Given the description of an element on the screen output the (x, y) to click on. 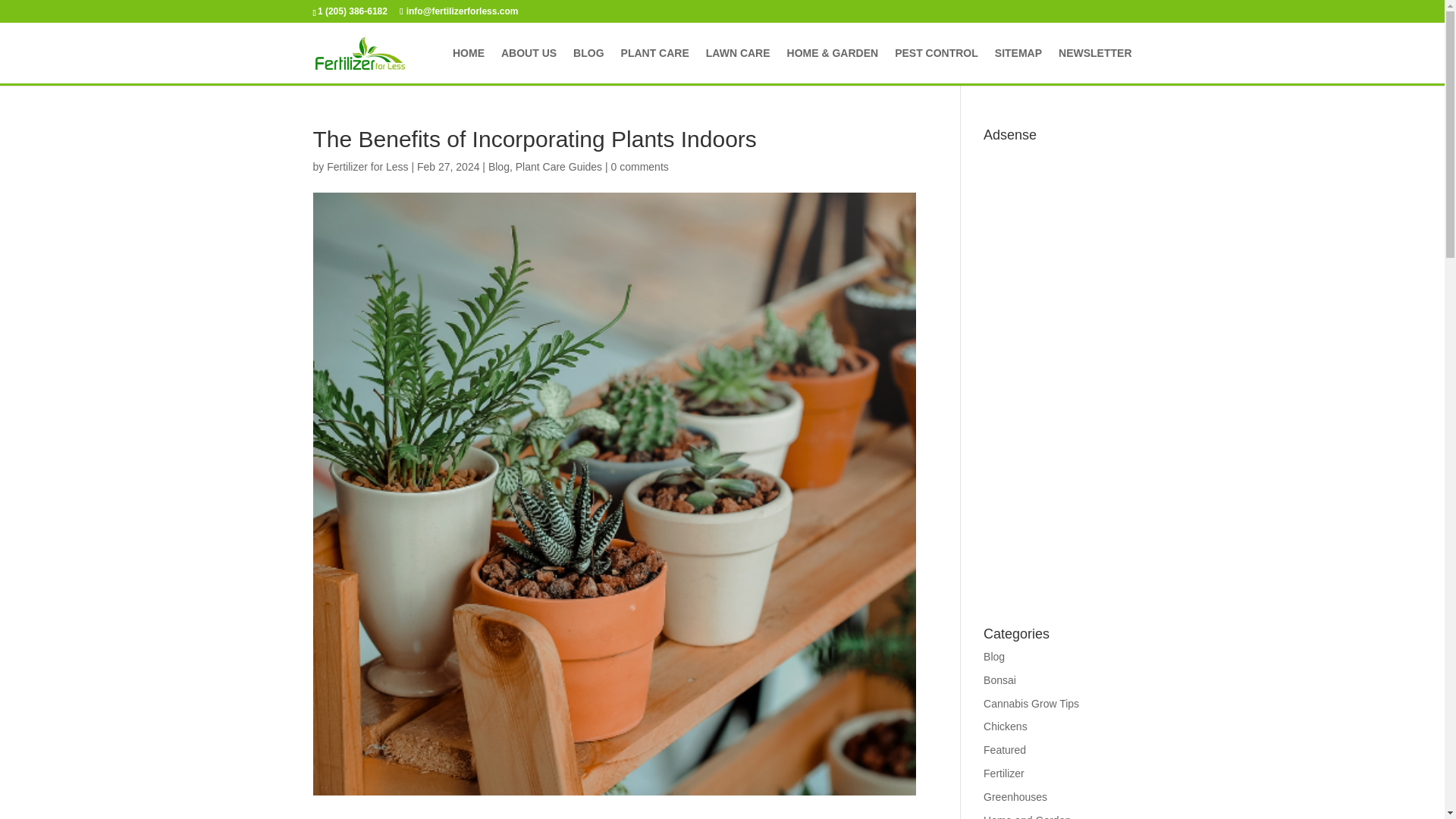
Featured (1005, 749)
Blog (994, 656)
Posts by Fertilizer for Less (366, 166)
Blog (498, 166)
Greenhouses (1015, 797)
Home and Garden (1027, 816)
NEWSLETTER (1094, 65)
0 comments (639, 166)
Fertilizer for Less (366, 166)
LAWN CARE (738, 65)
